Given the description of an element on the screen output the (x, y) to click on. 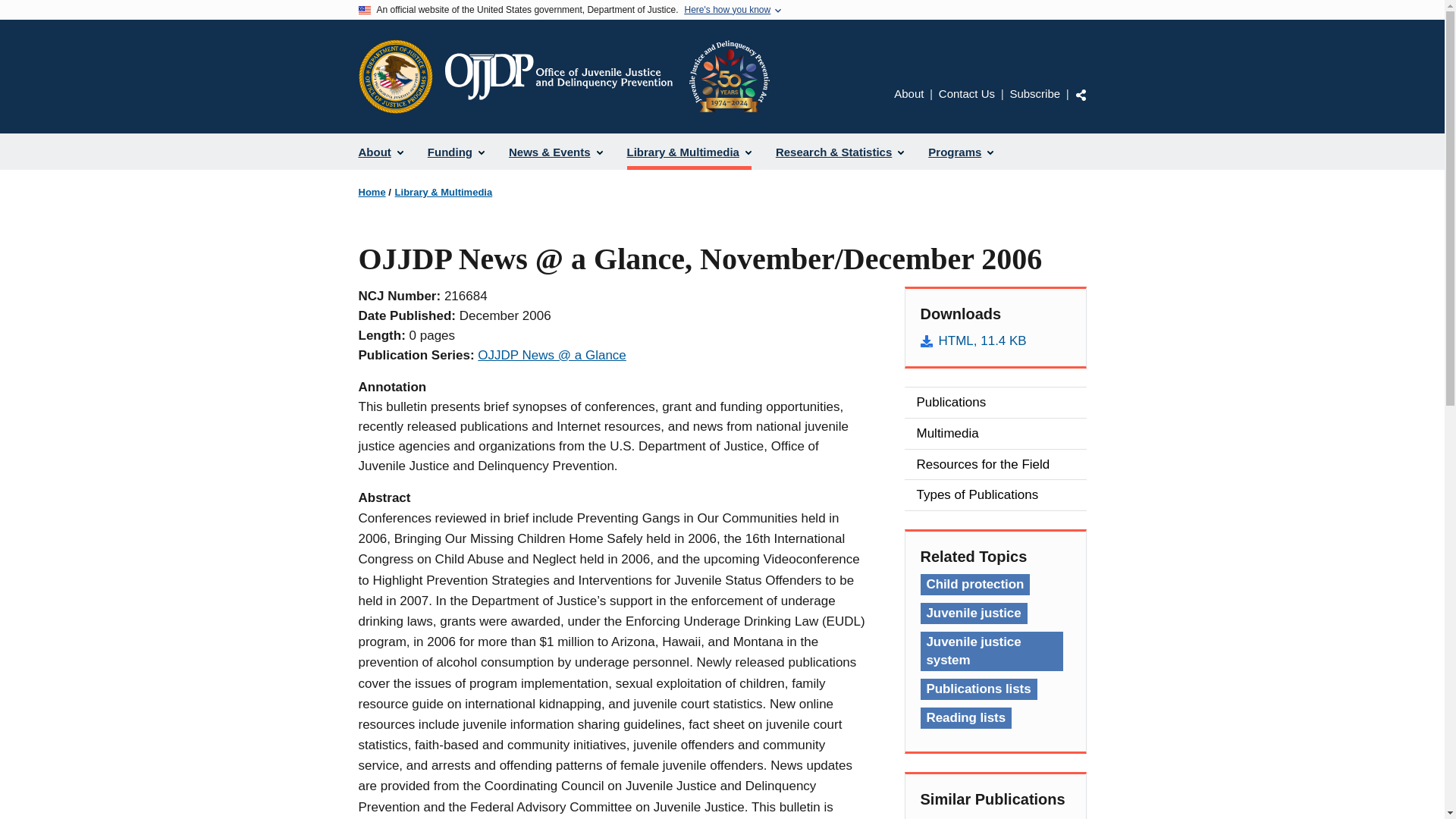
Office of Justice Programs (395, 76)
Five Things About Youth and Delinquency (995, 817)
Resources for the Field (995, 464)
Reading lists (965, 717)
Home (371, 192)
Here's how you know (727, 9)
Subscribe (1034, 93)
Juvenile justice (973, 613)
Multimedia (995, 433)
Share (1080, 94)
